Given the description of an element on the screen output the (x, y) to click on. 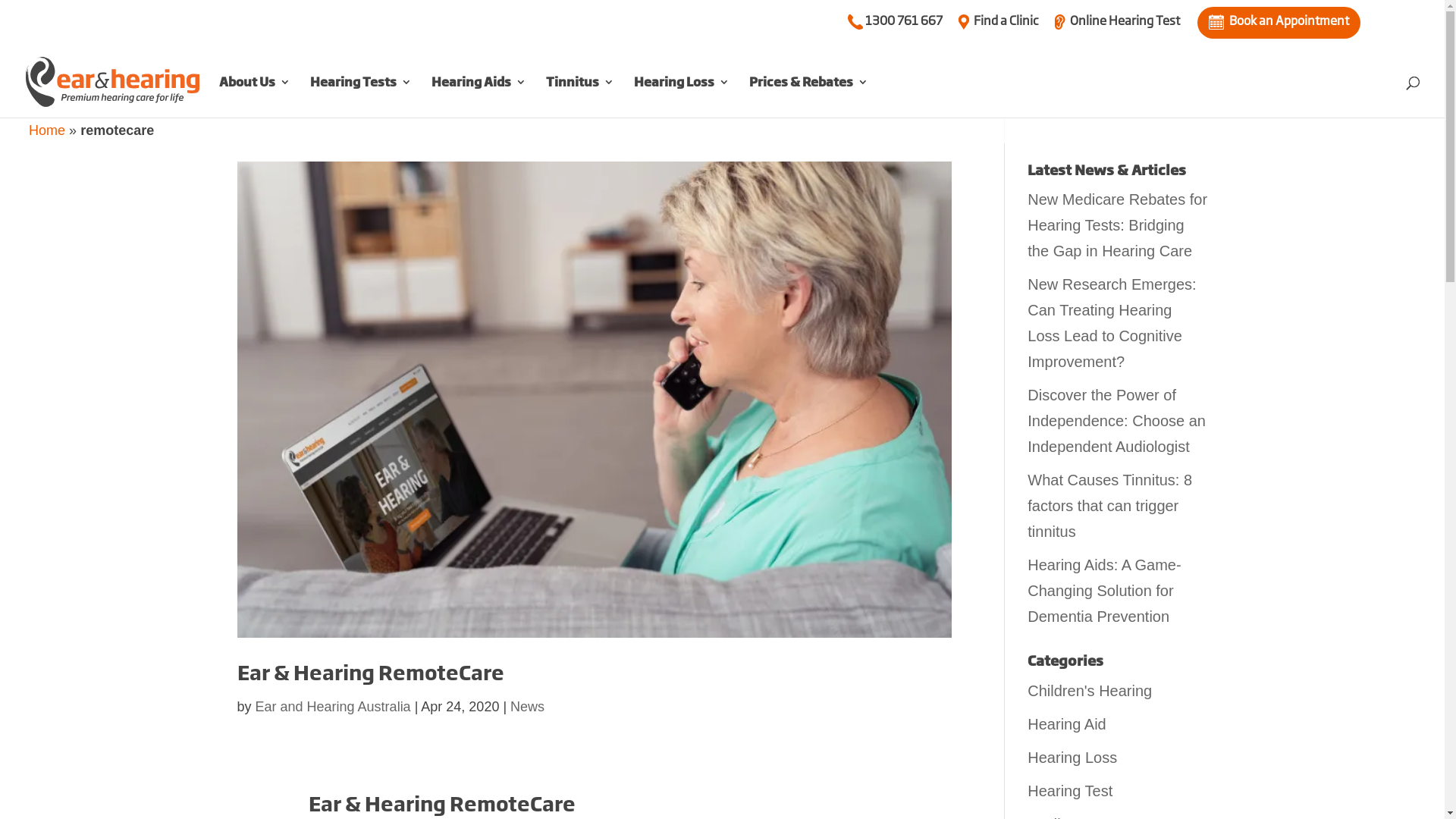
Book an Appointment Element type: text (1278, 22)
What Causes Tinnitus: 8 factors that can trigger tinnitus Element type: text (1109, 505)
Hearing Test Element type: text (1069, 790)
Hearing Aids Element type: text (478, 96)
Prices & Rebates Element type: text (808, 96)
Home Element type: text (46, 130)
Hearing Loss Element type: text (1072, 757)
Children's Hearing Element type: text (1089, 690)
Hearing Loss Element type: text (681, 96)
Hearing Aid Element type: text (1066, 723)
1300 761 667 Element type: text (894, 26)
Find a Clinic Element type: text (997, 26)
Hearing Tests Element type: text (360, 96)
About Us Element type: text (254, 96)
Ear & Hearing RemoteCare Element type: text (369, 672)
Tinnitus Element type: text (580, 96)
Ear and Hearing Australia Element type: text (333, 706)
News Element type: text (527, 706)
Online Hearing Test Element type: text (1115, 26)
